Given the description of an element on the screen output the (x, y) to click on. 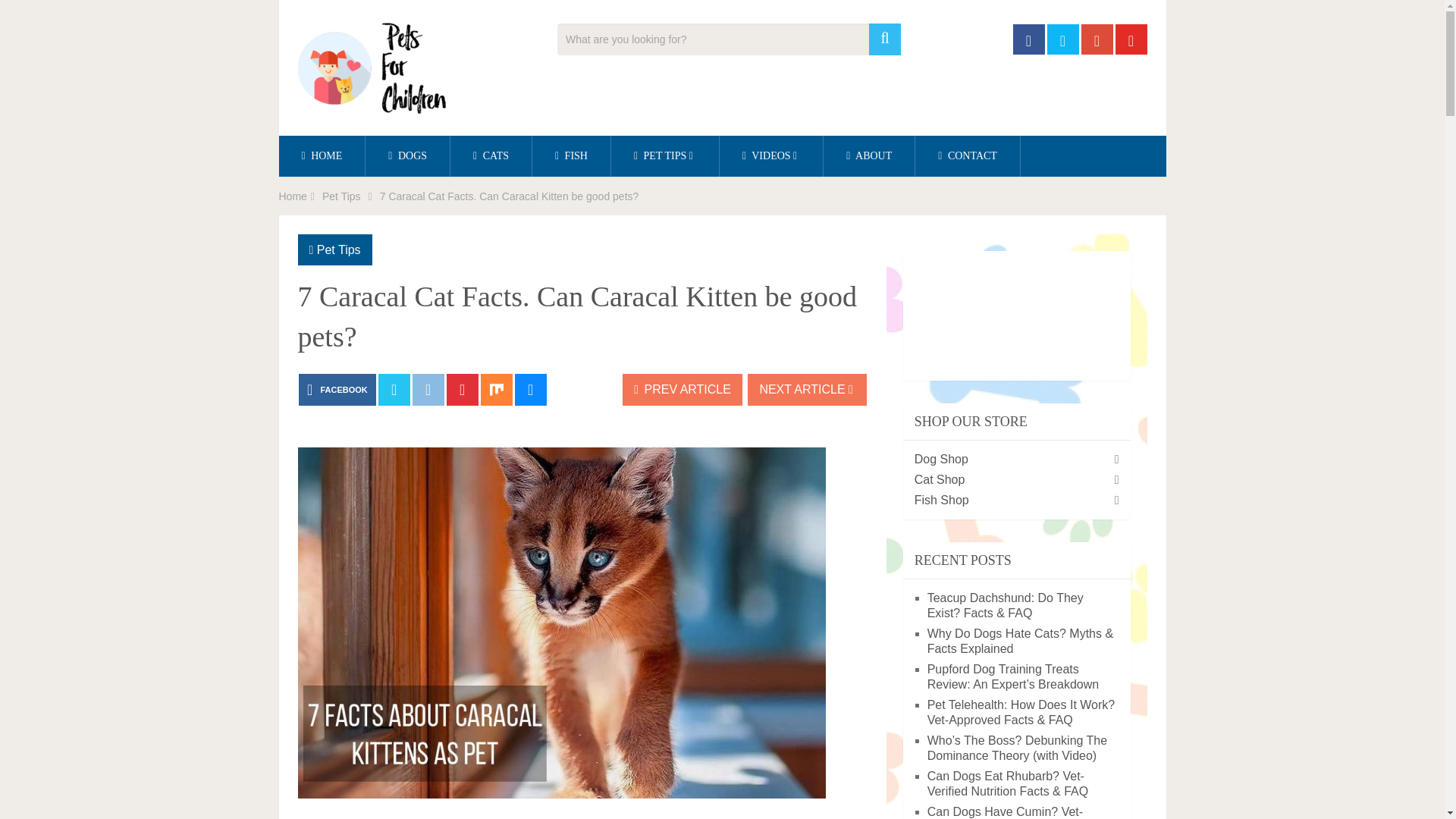
Pet Tips (341, 196)
Home (293, 196)
View all posts in Pet Tips (339, 249)
CATS (490, 155)
FACEBOOK (336, 389)
DOGS (407, 155)
PREV ARTICLE (682, 389)
PET TIPS (665, 155)
NEXT ARTICLE (807, 389)
FISH (571, 155)
HOME (322, 155)
VIDEOS (770, 155)
ABOUT (869, 155)
CONTACT (967, 155)
